Given the description of an element on the screen output the (x, y) to click on. 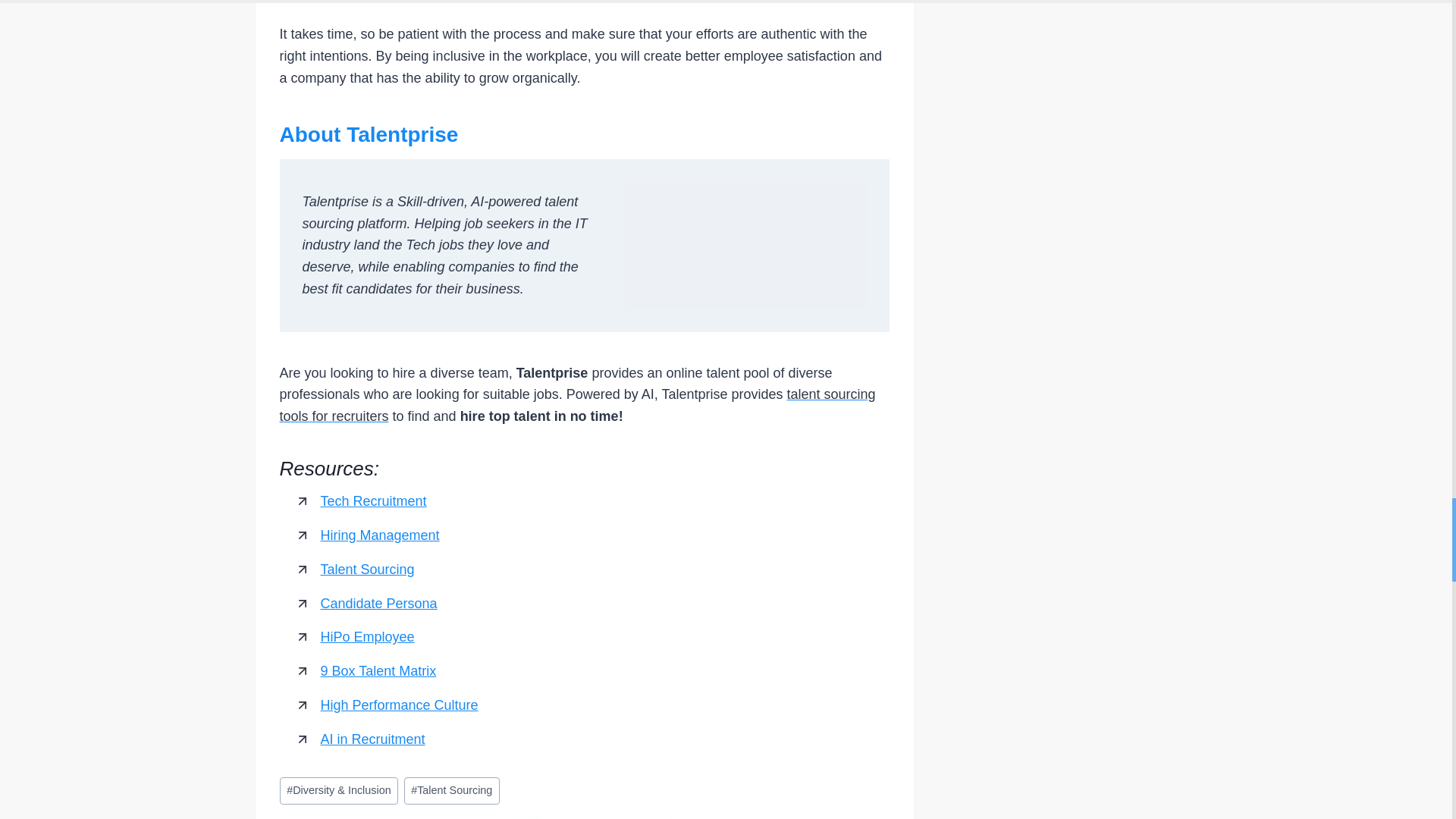
Hiring Management (379, 534)
Tech Recruitment (373, 500)
High Performance Culture (398, 704)
9 Box Talent Matrix (377, 670)
Talent Sourcing (451, 791)
AI in Recruitment (372, 739)
HiPo Employee (366, 636)
talent sourcing tools for recruiters (577, 405)
Talent Sourcing (366, 569)
Candidate Persona (378, 603)
